Given the description of an element on the screen output the (x, y) to click on. 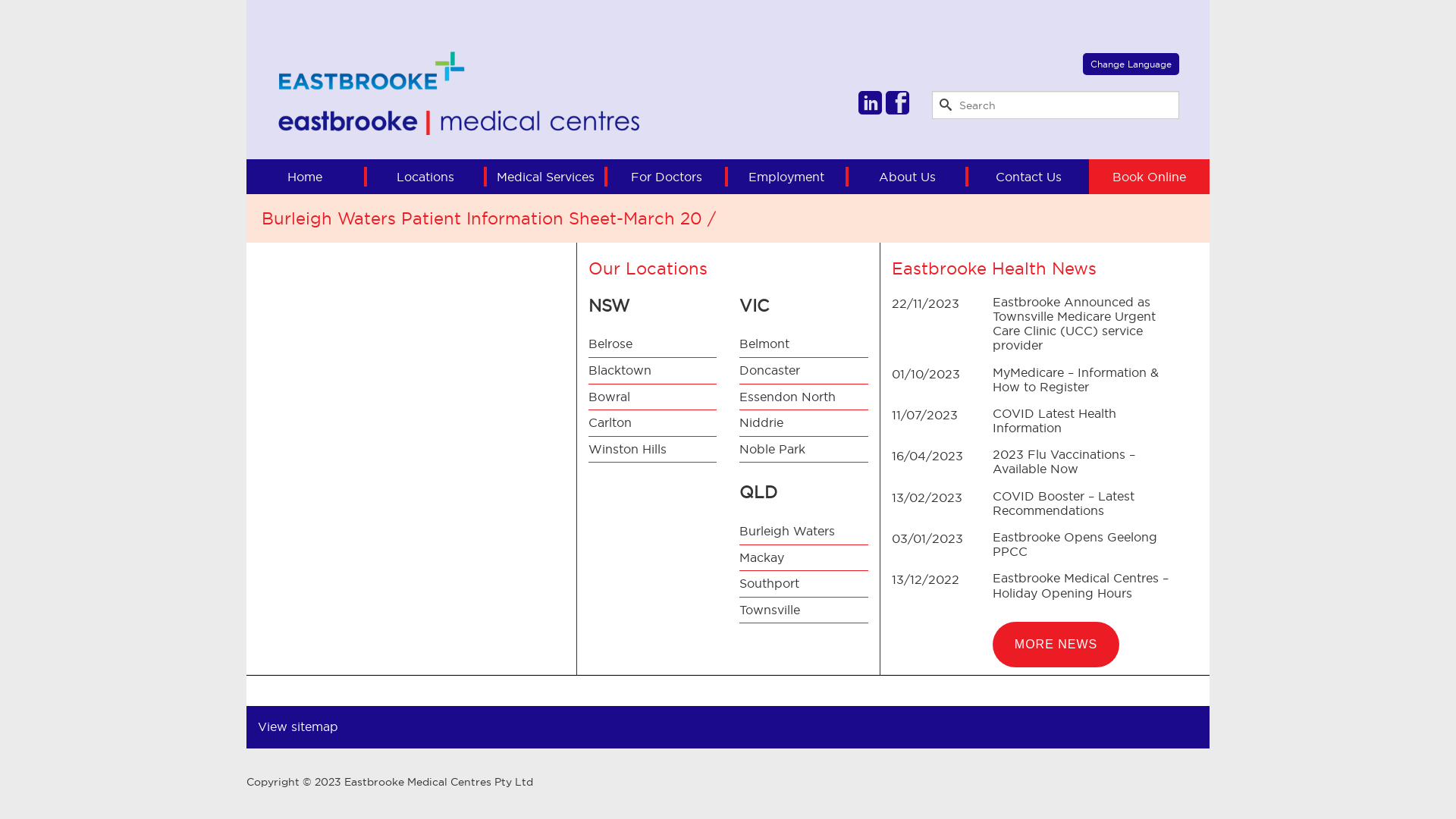
Townsville Element type: text (803, 610)
Home Element type: text (306, 176)
Essendon North Element type: text (803, 397)
Belrose Element type: text (652, 344)
Doncaster Element type: text (803, 370)
Medical Services Element type: text (546, 176)
Niddrie Element type: text (803, 423)
Belmont Element type: text (803, 344)
About Us Element type: text (908, 176)
Contact Us Element type: text (1028, 176)
Bowral Element type: text (652, 397)
Book Online Element type: text (1148, 176)
Winston Hills Element type: text (652, 449)
Southport Element type: text (803, 584)
Carlton Element type: text (652, 423)
Blacktown Element type: text (652, 370)
Locations Element type: text (427, 176)
Burleigh Waters Element type: text (803, 531)
Noble Park Element type: text (803, 449)
Employment Element type: text (788, 176)
For Doctors Element type: text (667, 176)
Mackay Element type: text (803, 558)
MORE NEWS Element type: text (1055, 644)
